Given the description of an element on the screen output the (x, y) to click on. 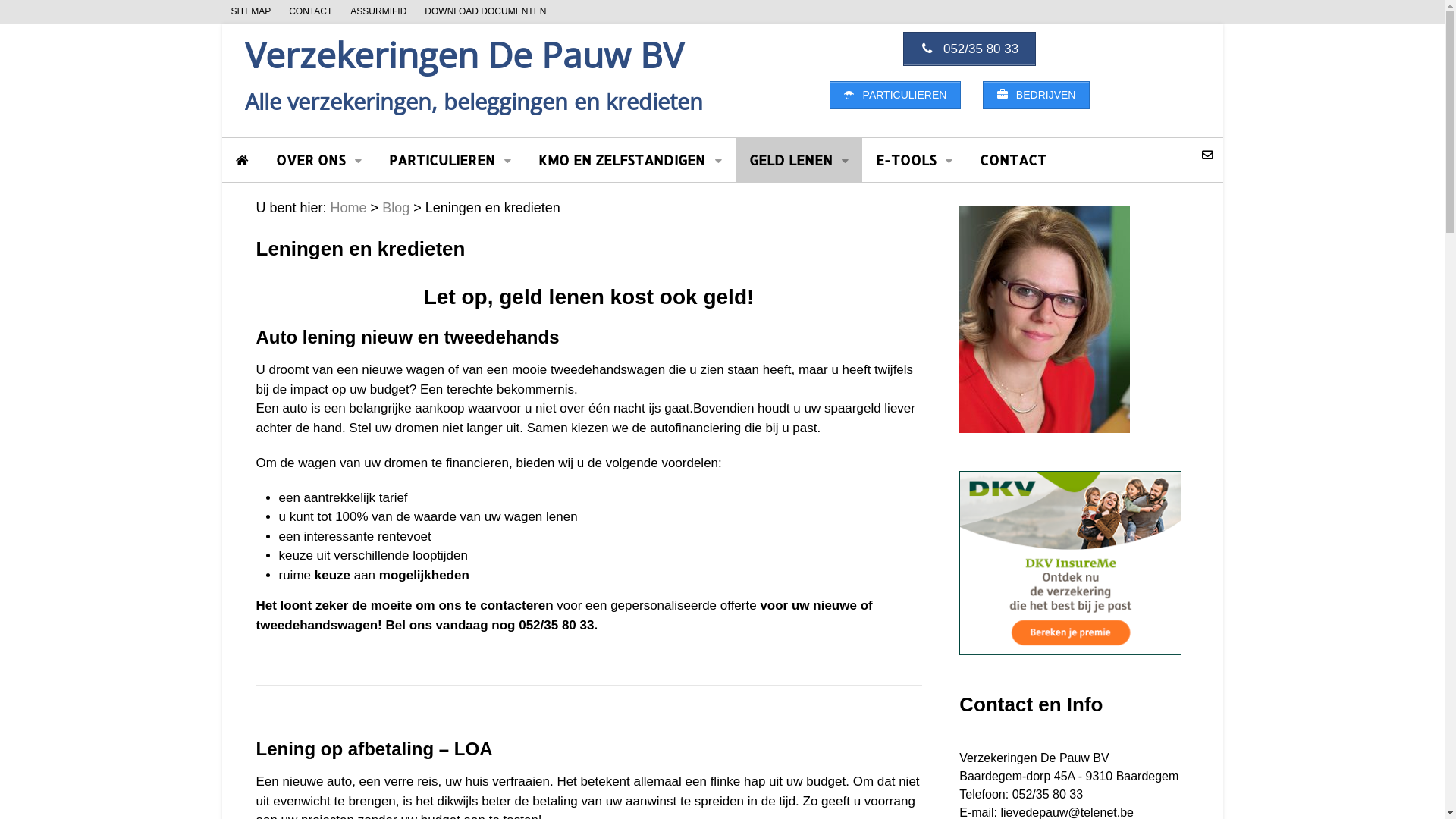
ASSURMIFID Element type: text (378, 11)
CONTACT Element type: text (310, 11)
PARTICULIEREN Element type: text (449, 160)
KMO EN ZELFSTANDIGEN Element type: text (629, 160)
DOWNLOAD DOCUMENTEN Element type: text (485, 11)
CONTACT Element type: text (1013, 160)
GELD LENEN Element type: text (798, 160)
Home Element type: text (348, 207)
OVER ONS Element type: text (318, 160)
PARTICULIEREN Element type: text (894, 95)
BEDRIJVEN Element type: text (1035, 95)
E-TOOLS Element type: text (914, 160)
052/35 80 33 Element type: text (968, 48)
Blog Element type: text (395, 207)
SITEMAP Element type: text (250, 11)
